Given the description of an element on the screen output the (x, y) to click on. 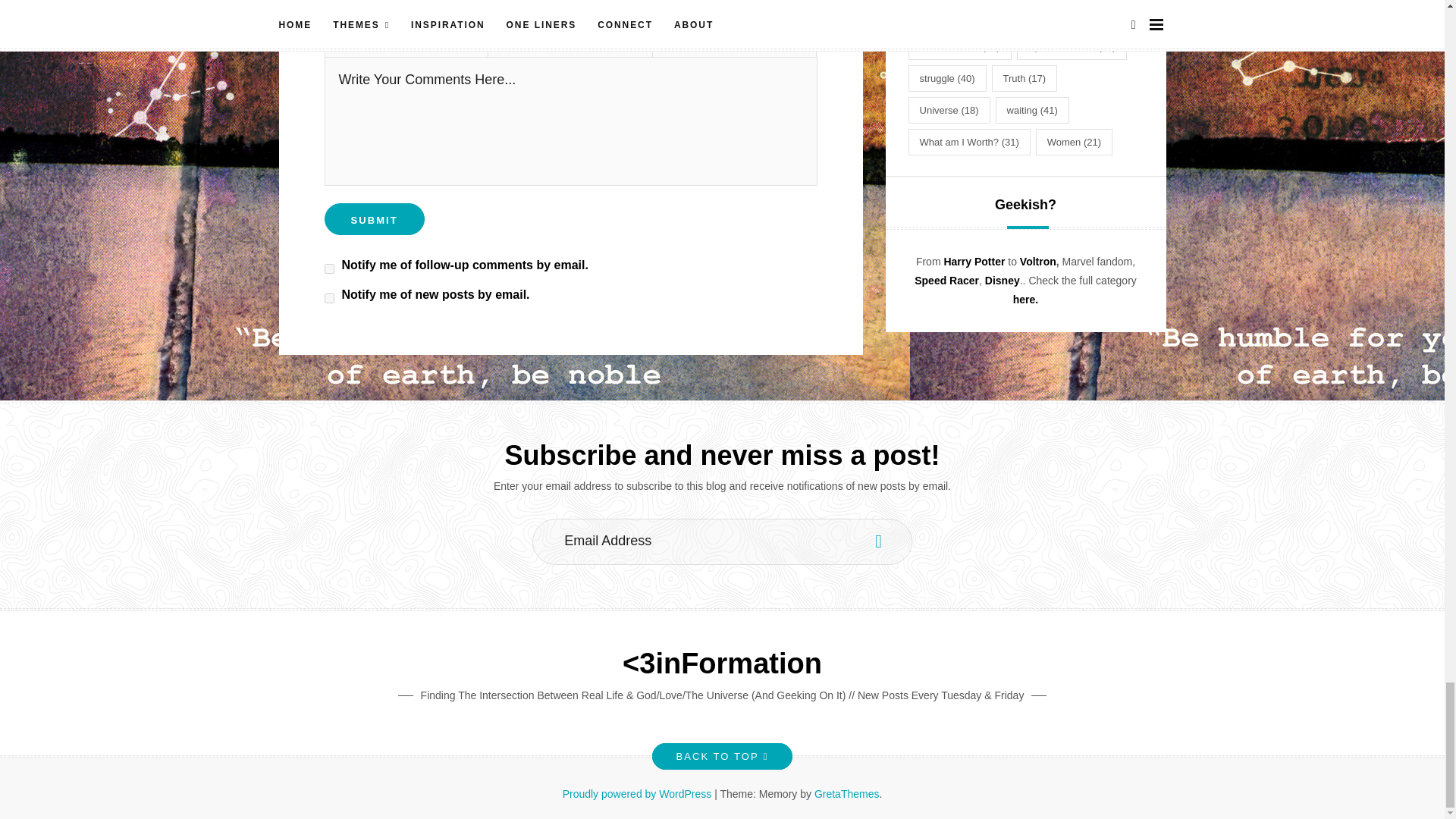
Submit (374, 219)
BACK TO TOP (722, 755)
